Given the description of an element on the screen output the (x, y) to click on. 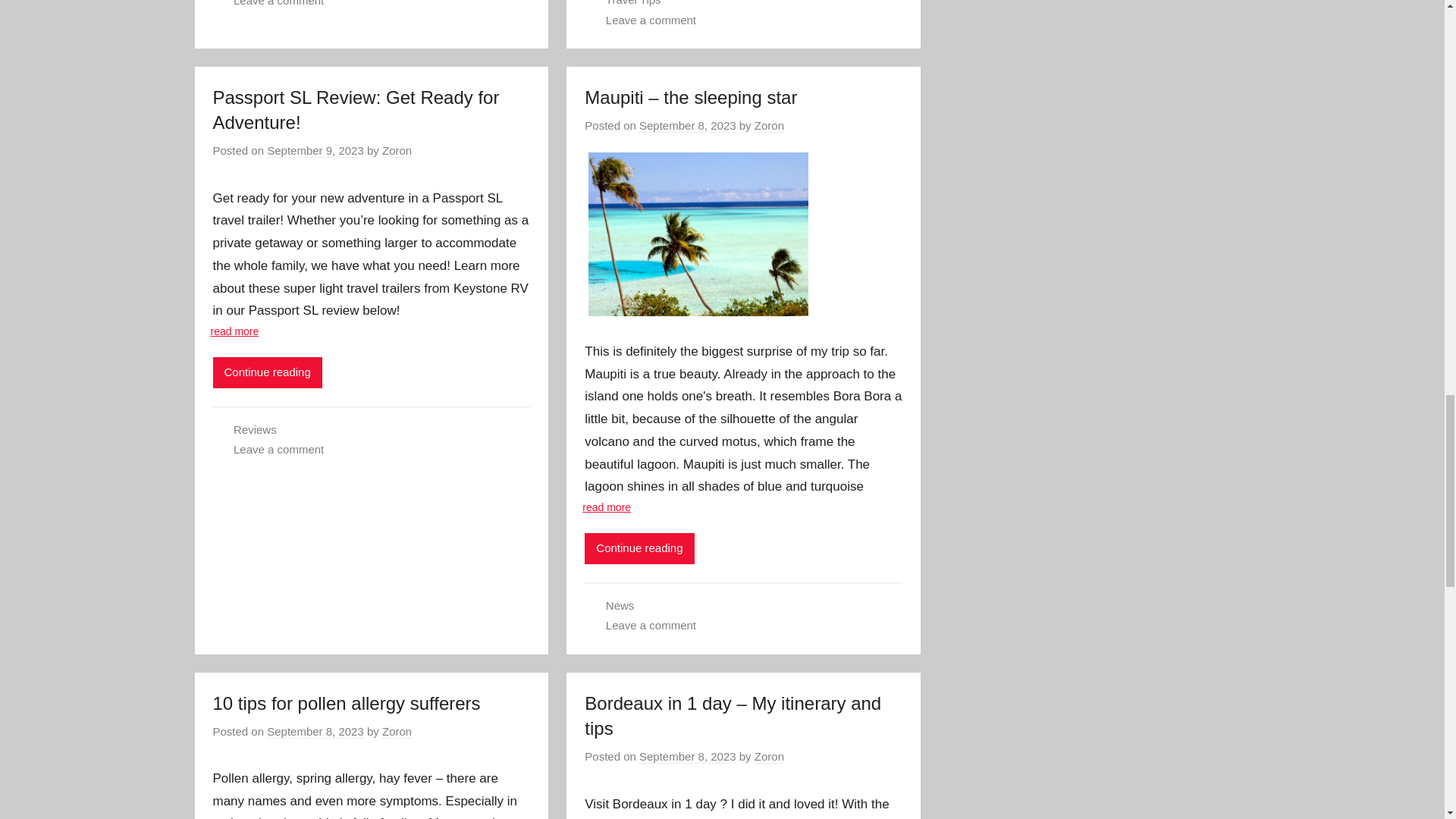
View all posts by Zoron (396, 151)
Travel Tips (633, 2)
View all posts by Zoron (769, 125)
Zoron (396, 151)
Leave a comment (650, 19)
View all posts by Zoron (396, 731)
Passport SL Review: Get Ready for Adventure! (355, 109)
September 9, 2023 (315, 151)
Leave a comment (277, 3)
View all posts by Zoron (769, 756)
